Given the description of an element on the screen output the (x, y) to click on. 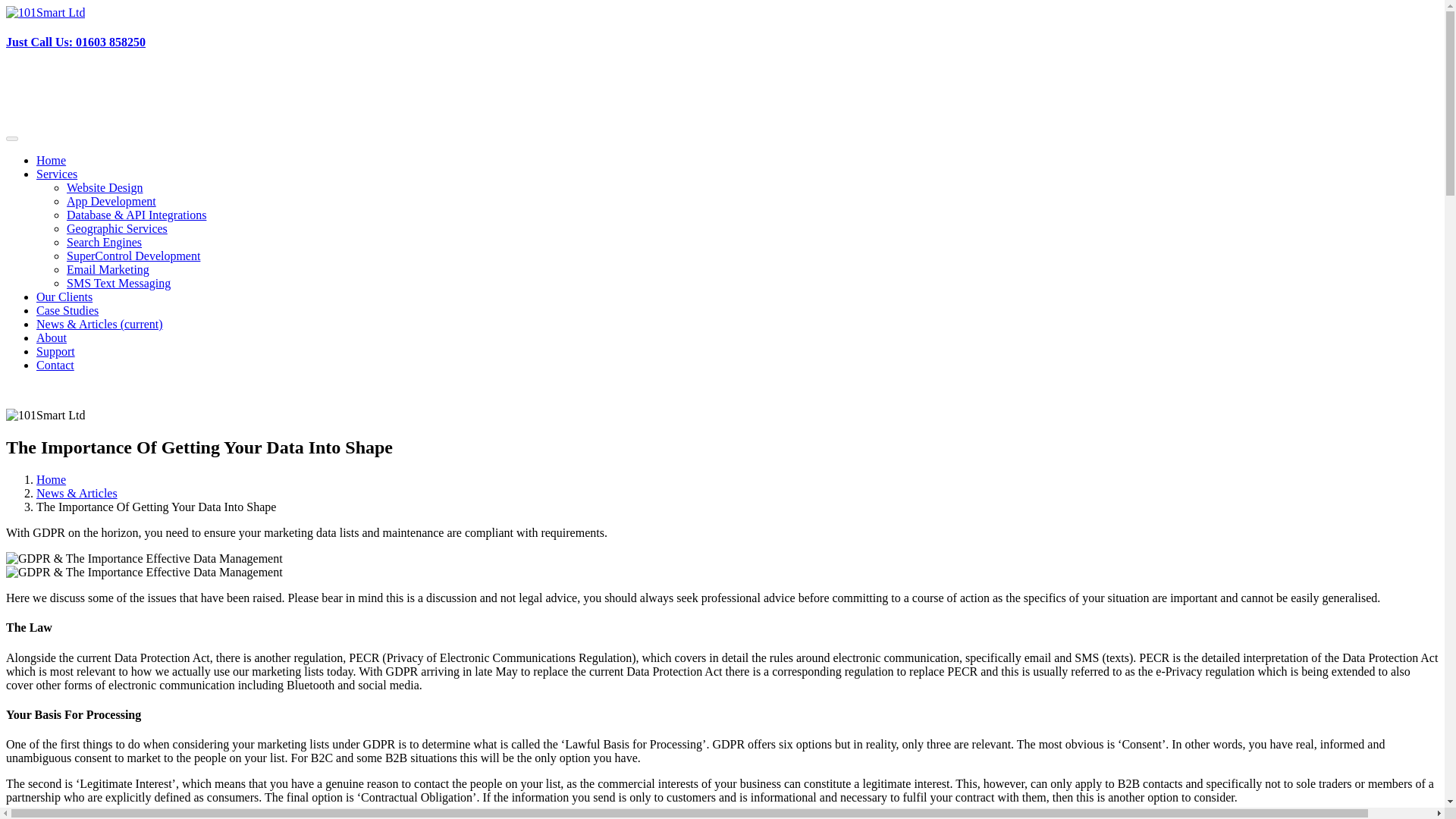
Email Marketing (107, 269)
Our Clients (64, 296)
Geographic Services (116, 228)
Home (50, 160)
Case Studies (67, 309)
SuperControl Development (133, 255)
Email Marketing (107, 269)
Support (55, 350)
SMS Text Messaging (118, 282)
SuperControl Development (133, 255)
About (51, 337)
Contact (55, 364)
Our Clients (64, 296)
Services (56, 173)
About (51, 337)
